Given the description of an element on the screen output the (x, y) to click on. 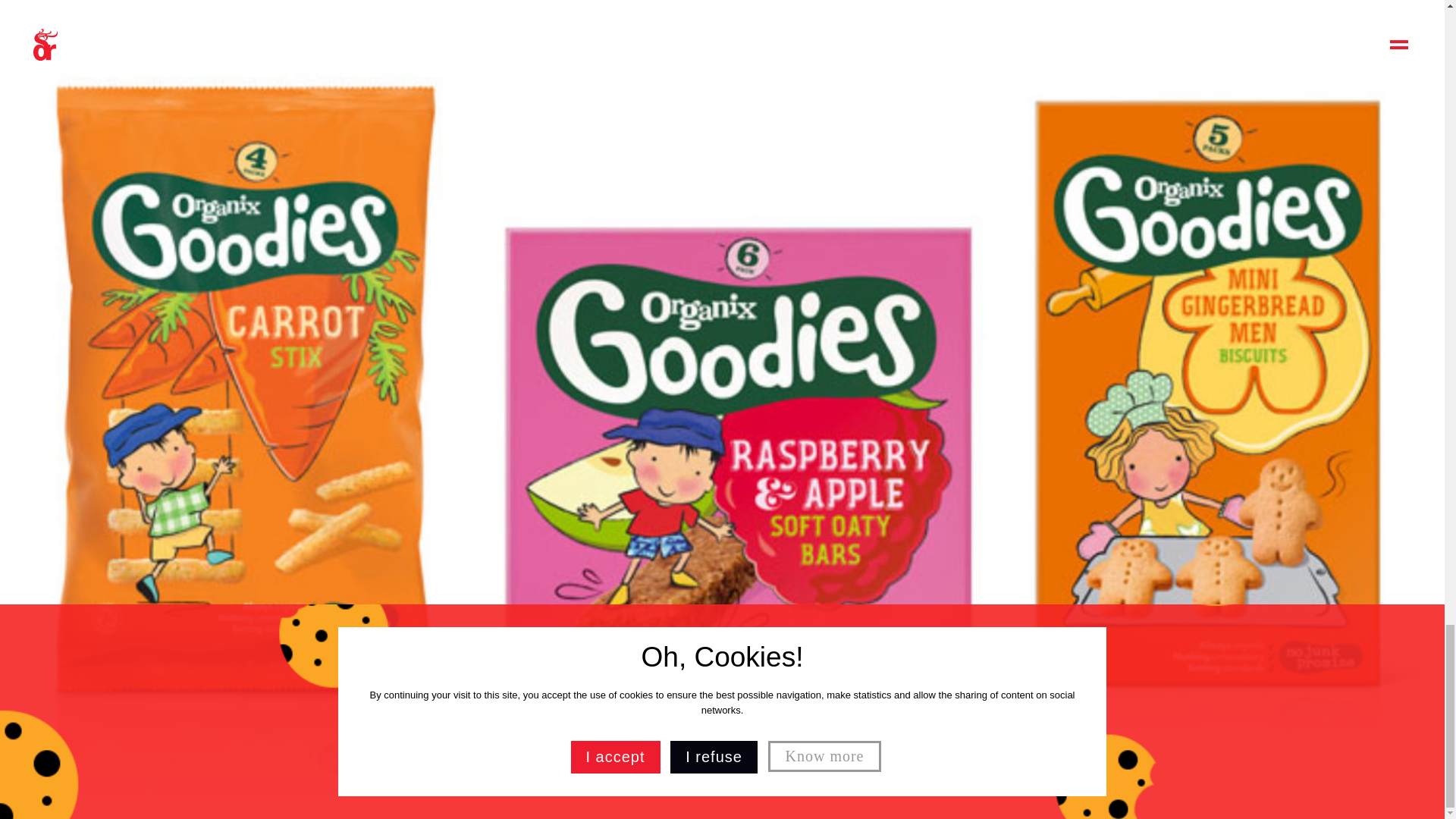
send an email (880, 329)
send an email (564, 358)
send an email (564, 189)
send an email (1196, 189)
send an email (880, 189)
send an email (248, 329)
send an email (248, 189)
send an email (1196, 329)
